Given the description of an element on the screen output the (x, y) to click on. 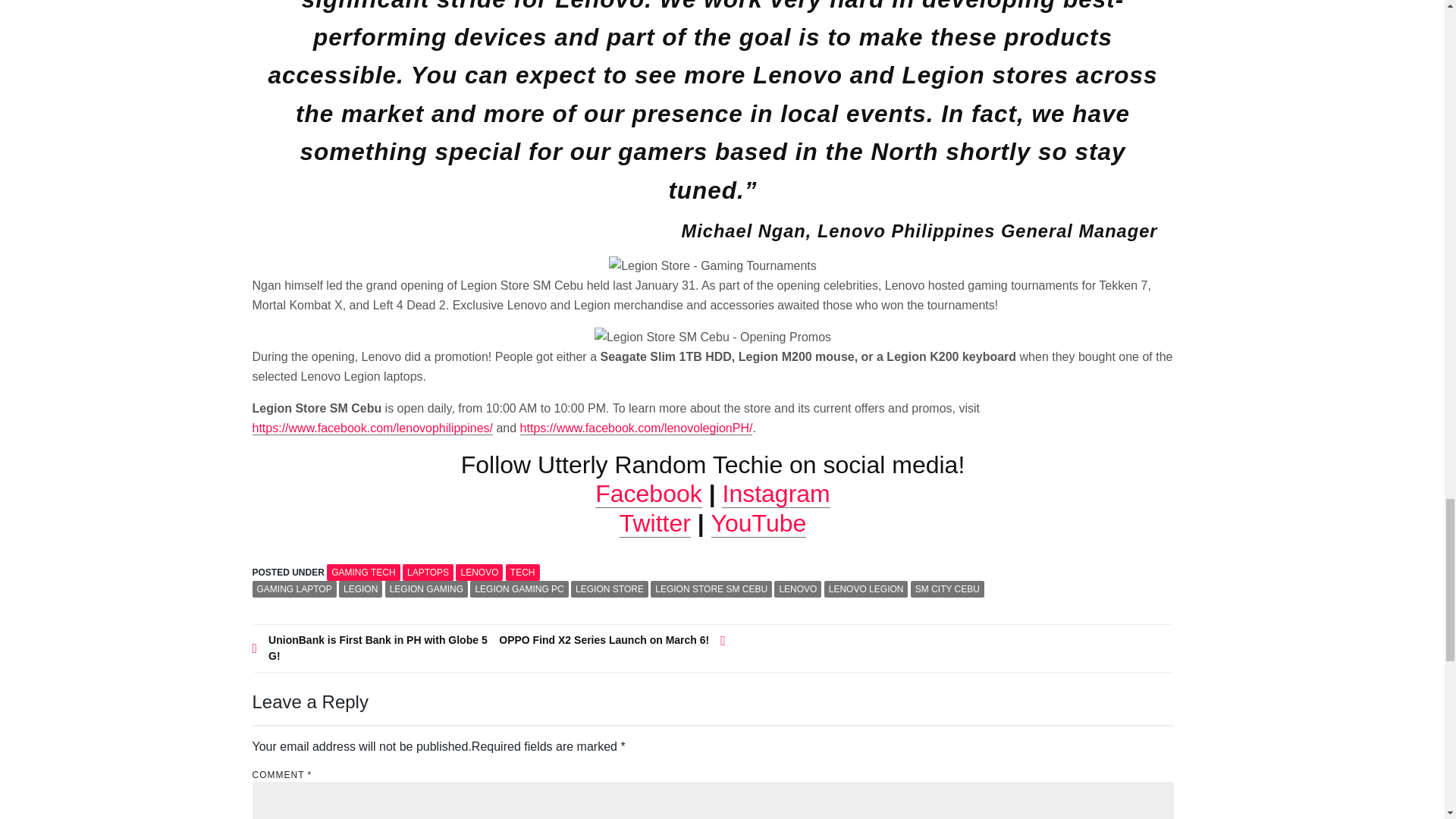
LEGION (360, 588)
LEGION STORE SM CEBU (710, 588)
LEGION GAMING PC (518, 588)
YouTube (758, 523)
LAPTOPS (427, 572)
GAMING TECH (362, 572)
TECH (522, 572)
UnionBank is First Bank in PH with Globe 5G! (369, 648)
SM CITY CEBU (947, 588)
LENOVO LEGION (866, 588)
